Given the description of an element on the screen output the (x, y) to click on. 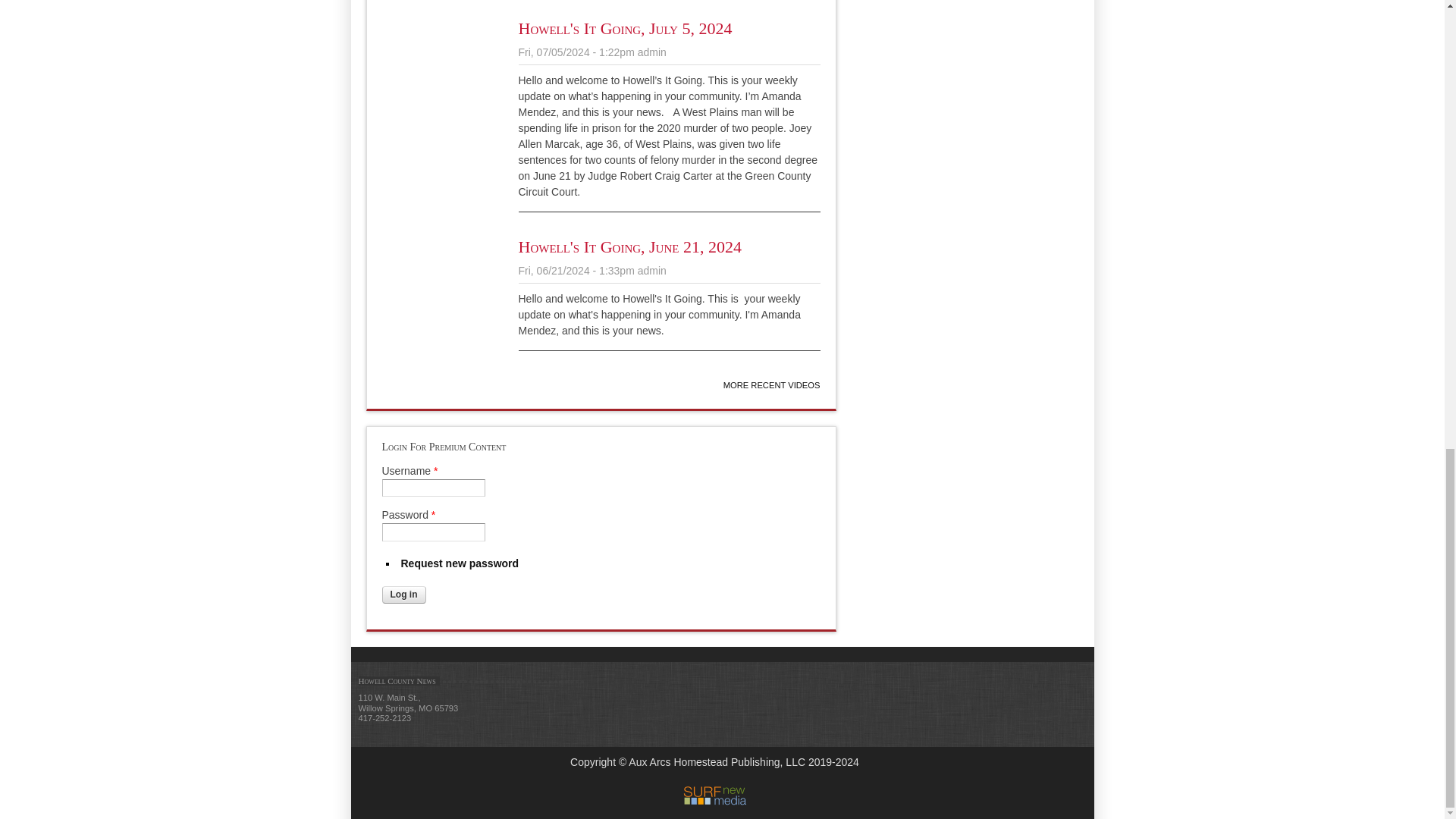
Howell'S It Going, July 5, 2024 (625, 27)
Howell'S It Going, June 21, 2024 (629, 246)
MORE RECENT VIDEOS (772, 384)
Request new password (459, 563)
Log in (403, 595)
Log in (403, 595)
